Given the description of an element on the screen output the (x, y) to click on. 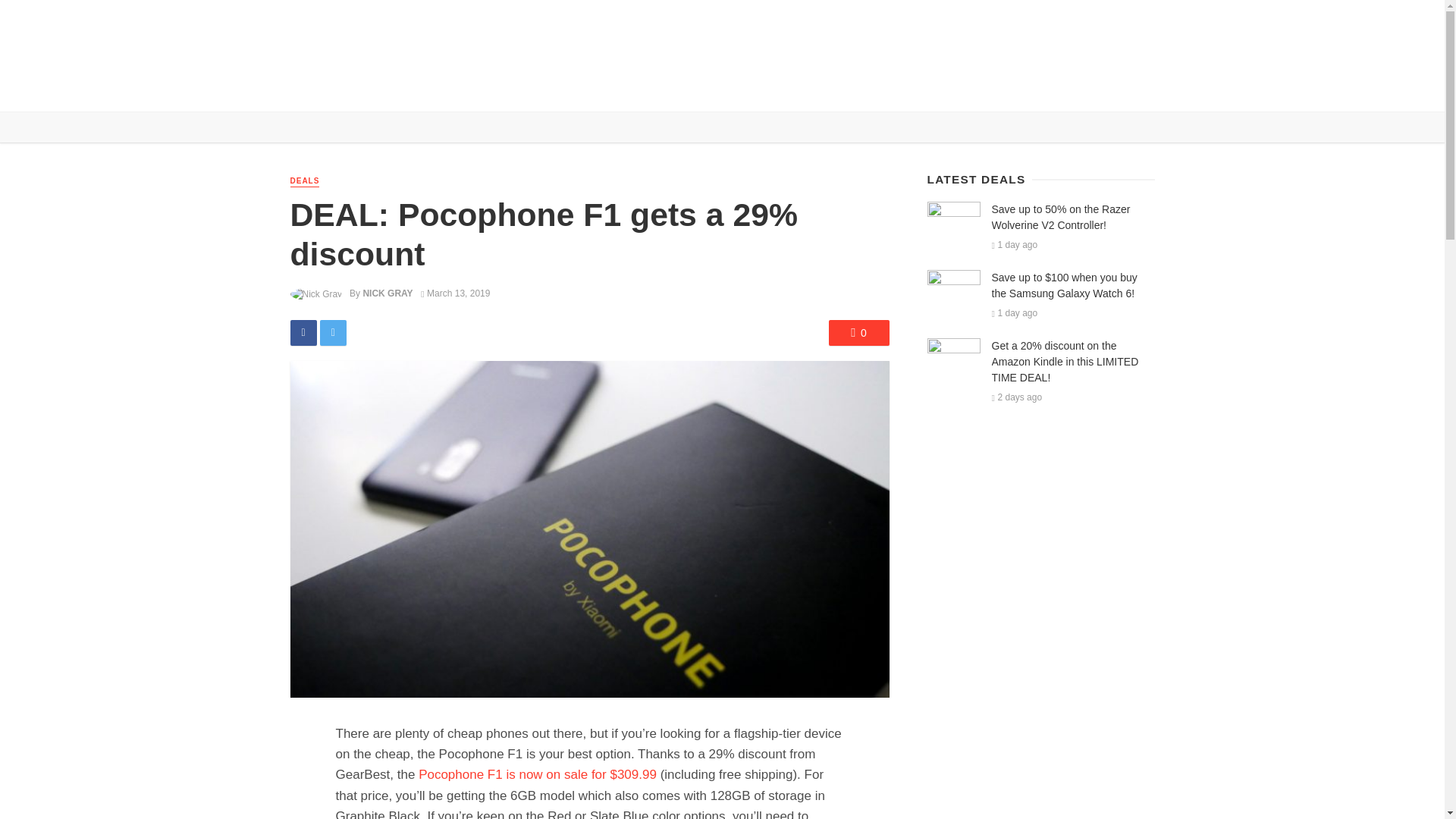
HOW TO (504, 89)
NEWS (345, 89)
NICK GRAY (387, 293)
0 Comments (858, 332)
DEALS (452, 89)
Share on Twitter (333, 332)
March 13, 2019 at 12:10 pm (454, 293)
0 (858, 332)
REVIEWS (398, 89)
Share on Facebook (302, 332)
